Given the description of an element on the screen output the (x, y) to click on. 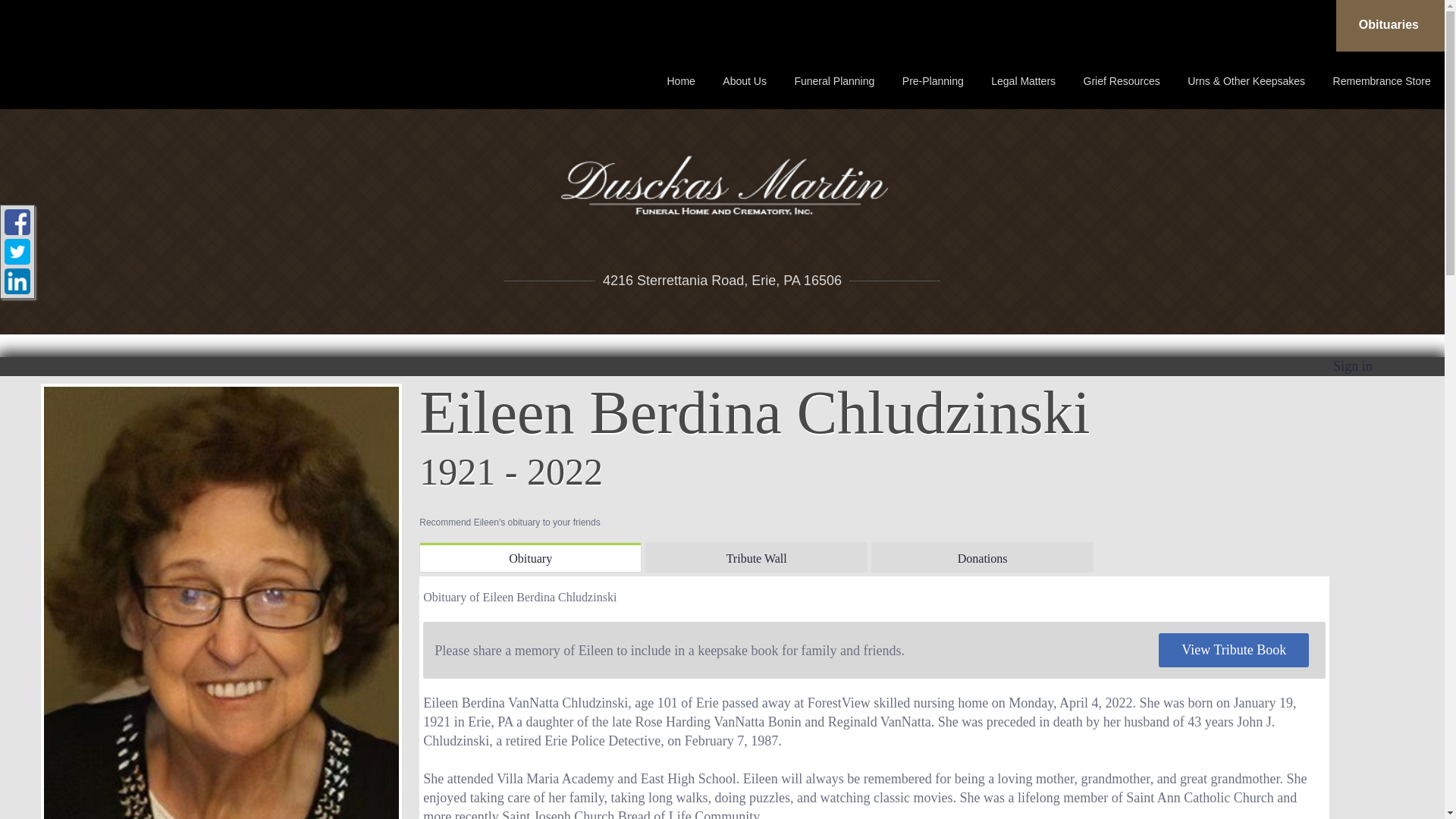
Home (680, 79)
Remembrance Store (1382, 79)
Grief Resources (1121, 79)
Funeral Planning (833, 79)
Pre-Planning (932, 79)
Legal Matters (1023, 79)
About Us (744, 79)
